Given the description of an element on the screen output the (x, y) to click on. 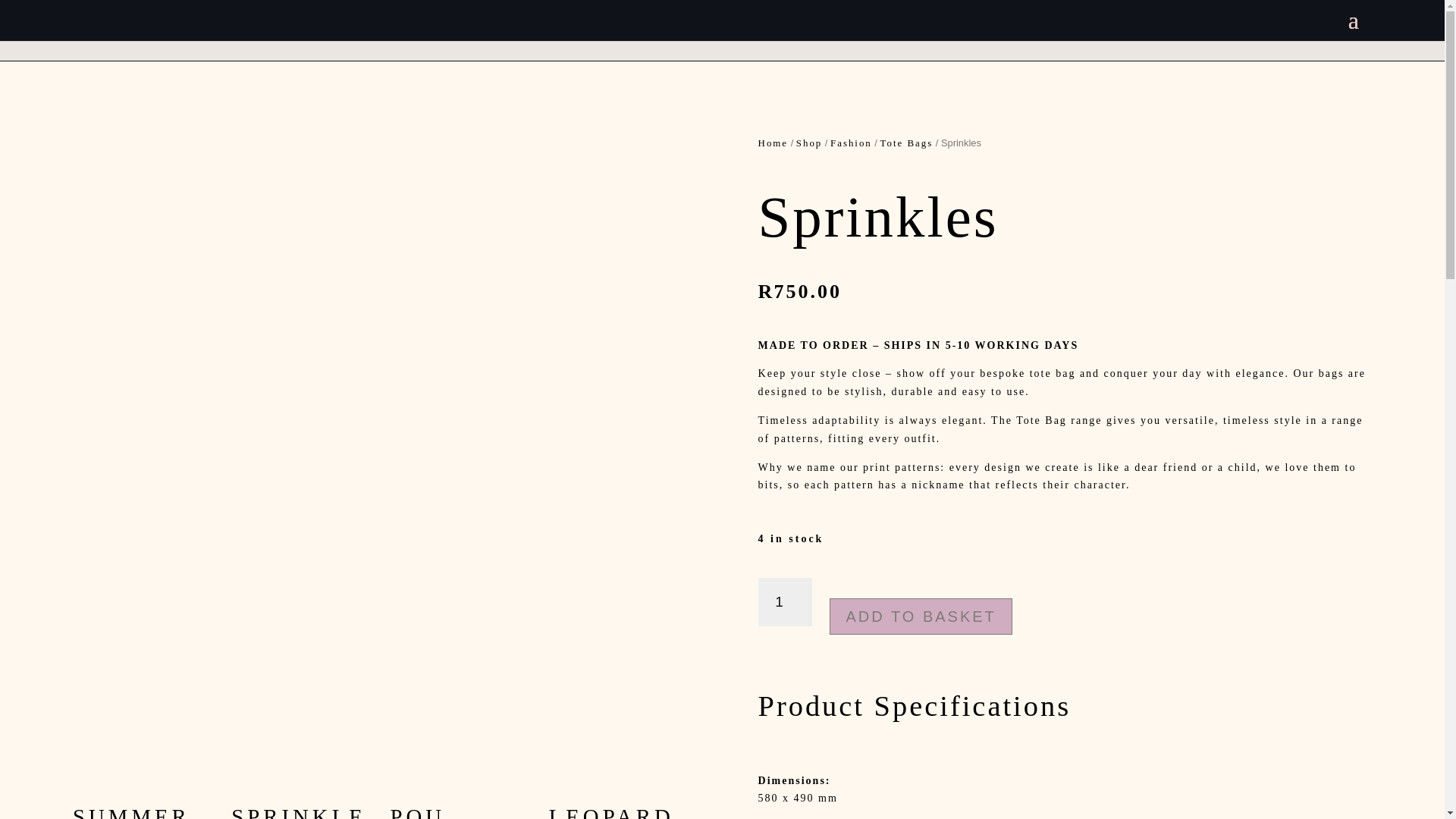
ADD TO BASKET (920, 616)
Home (772, 143)
Qty (785, 602)
SUMMER (140, 812)
Shop (809, 143)
Fashion (850, 143)
1 (785, 602)
SPRINKLES (298, 812)
JULIET (751, 812)
Tote Bags (906, 143)
